Given the description of an element on the screen output the (x, y) to click on. 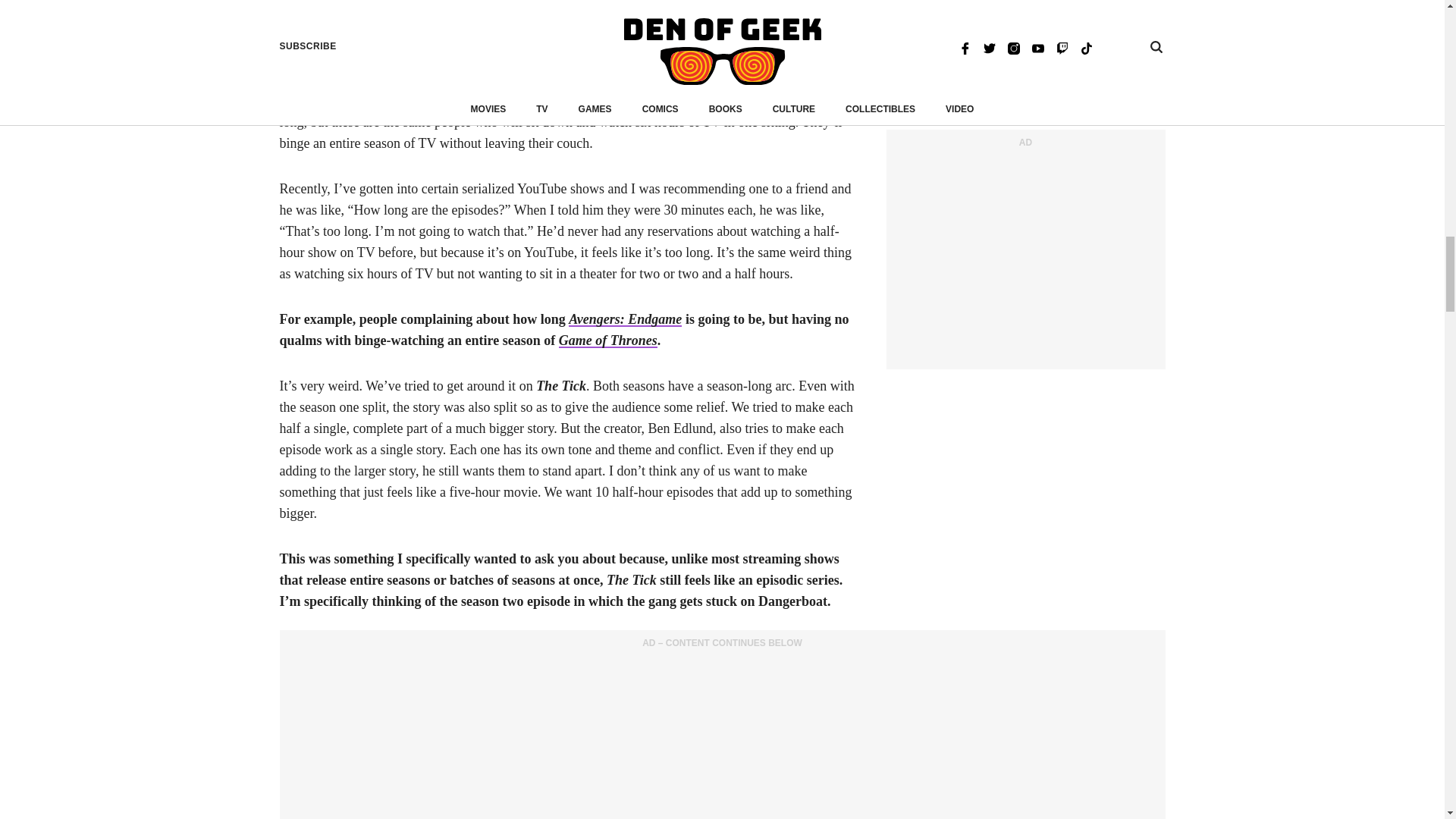
Subscribe (829, 17)
Game of Thrones (608, 340)
Avengers: Endgame (625, 319)
